Given the description of an element on the screen output the (x, y) to click on. 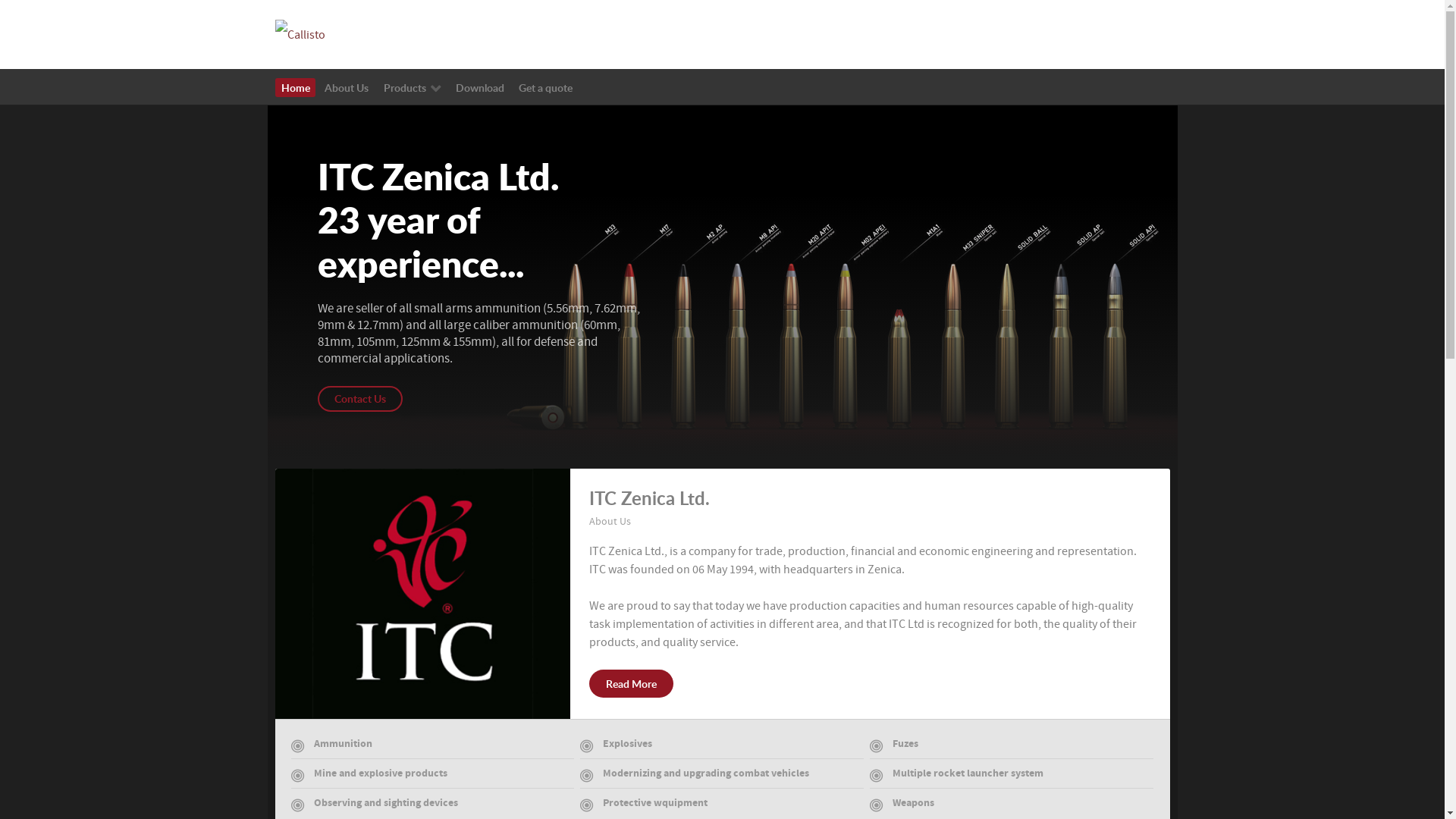
Weapons Element type: text (1011, 805)
Multiple rocket launcher system Element type: text (1011, 776)
Explosives Element type: text (721, 747)
Read More Element type: text (631, 683)
Ammunition Element type: text (432, 747)
Observing and sighting devices Element type: text (432, 805)
Get a quote Element type: text (545, 87)
Modernizing and upgrading combat vehicles Element type: text (721, 776)
Protective wquipment Element type: text (721, 805)
Fuzes Element type: text (1011, 747)
Mine and explosive products Element type: text (432, 776)
Callisto Element type: hover (299, 33)
Contact Us Element type: text (358, 398)
Home Element type: text (295, 87)
Download Element type: text (479, 87)
About Us Element type: text (346, 87)
